Given the description of an element on the screen output the (x, y) to click on. 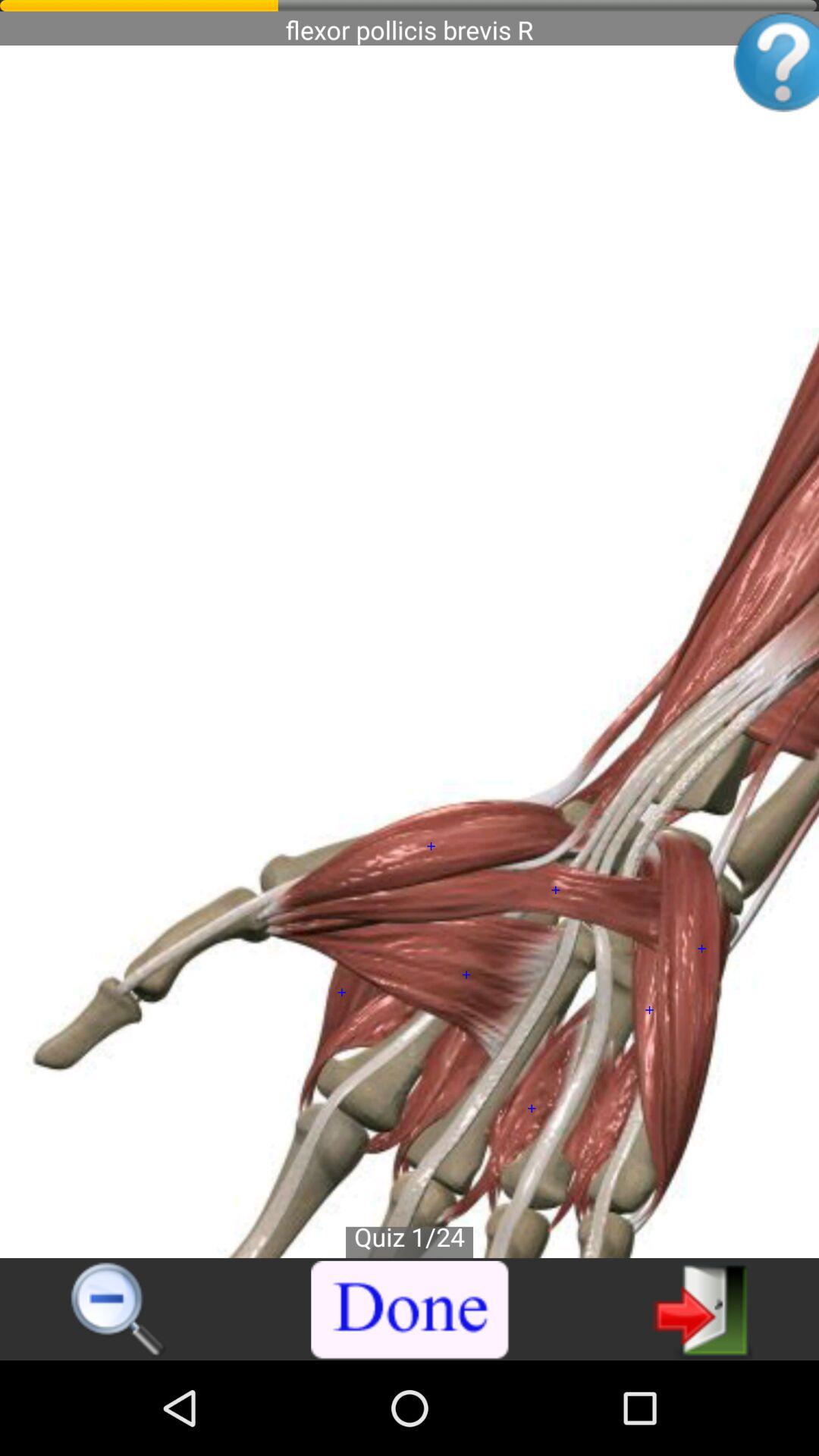
end the quiz (410, 1310)
